Given the description of an element on the screen output the (x, y) to click on. 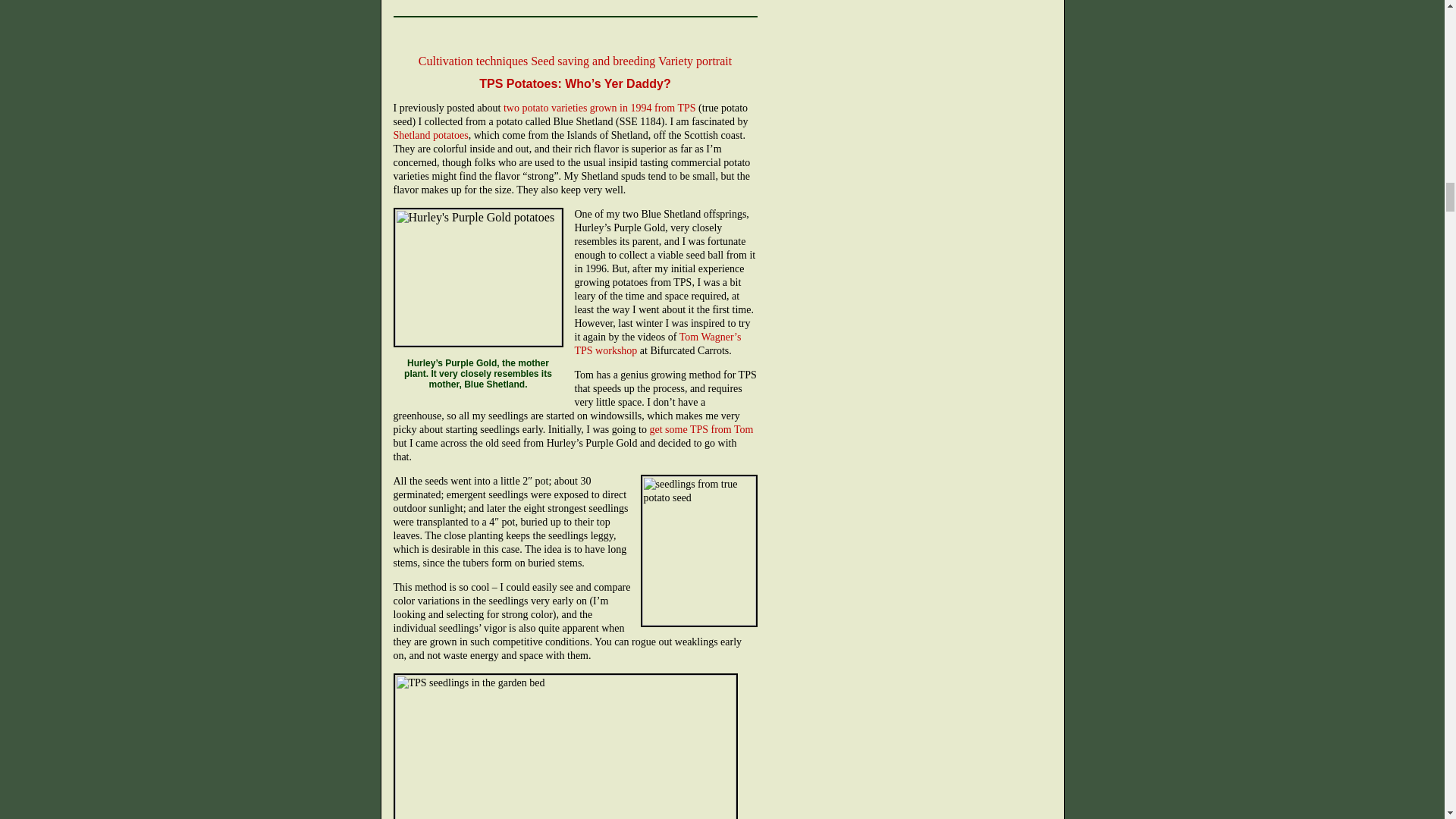
Shetland potatoes (430, 134)
Variety portrait (695, 60)
two potato varieties grown in 1994 from TPS (599, 107)
Seed saving and breeding (593, 60)
get some TPS from Tom (701, 429)
Cultivation techniques (473, 60)
